Given the description of an element on the screen output the (x, y) to click on. 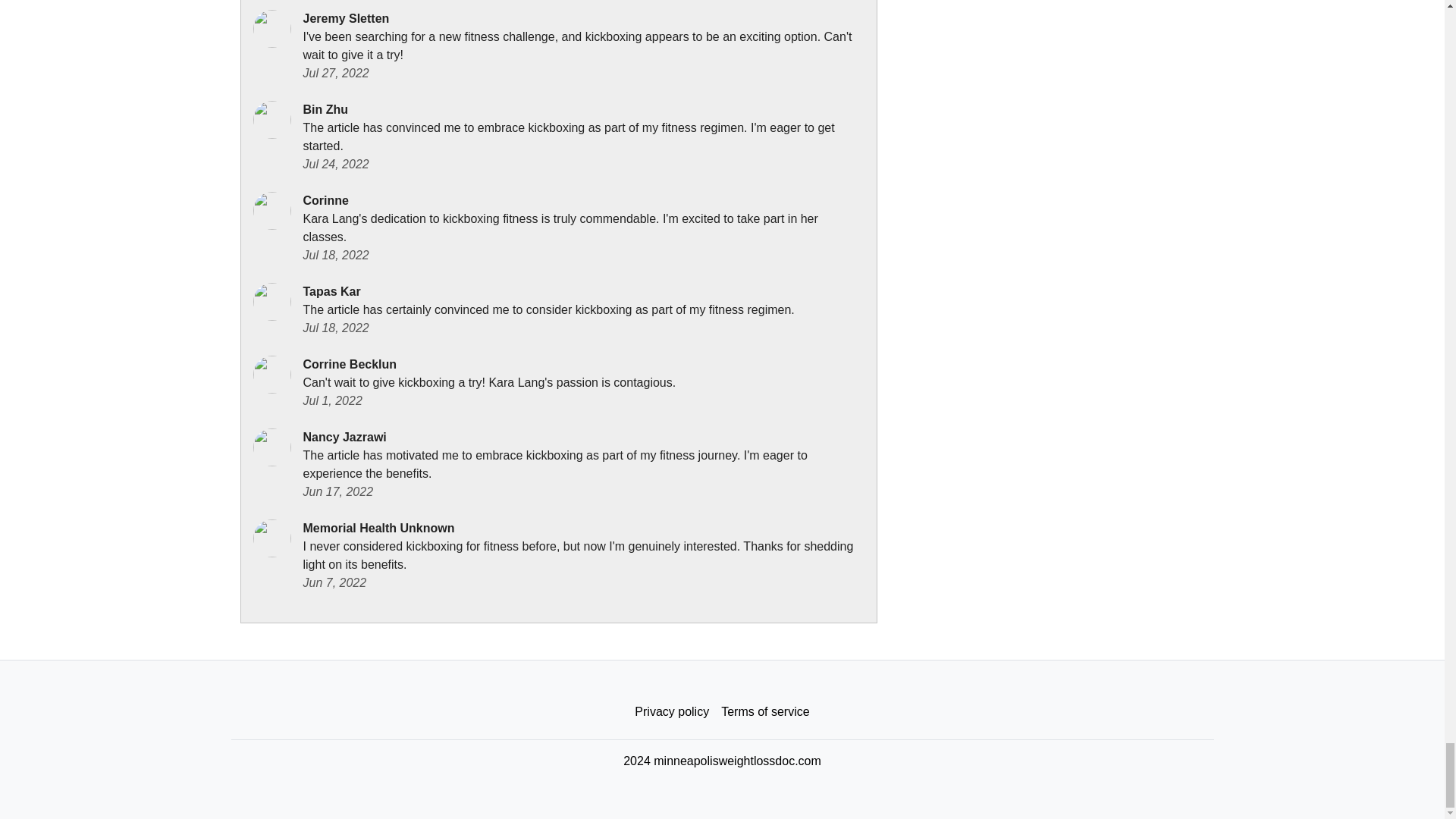
Terms of service (764, 711)
Privacy policy (671, 711)
